Given the description of an element on the screen output the (x, y) to click on. 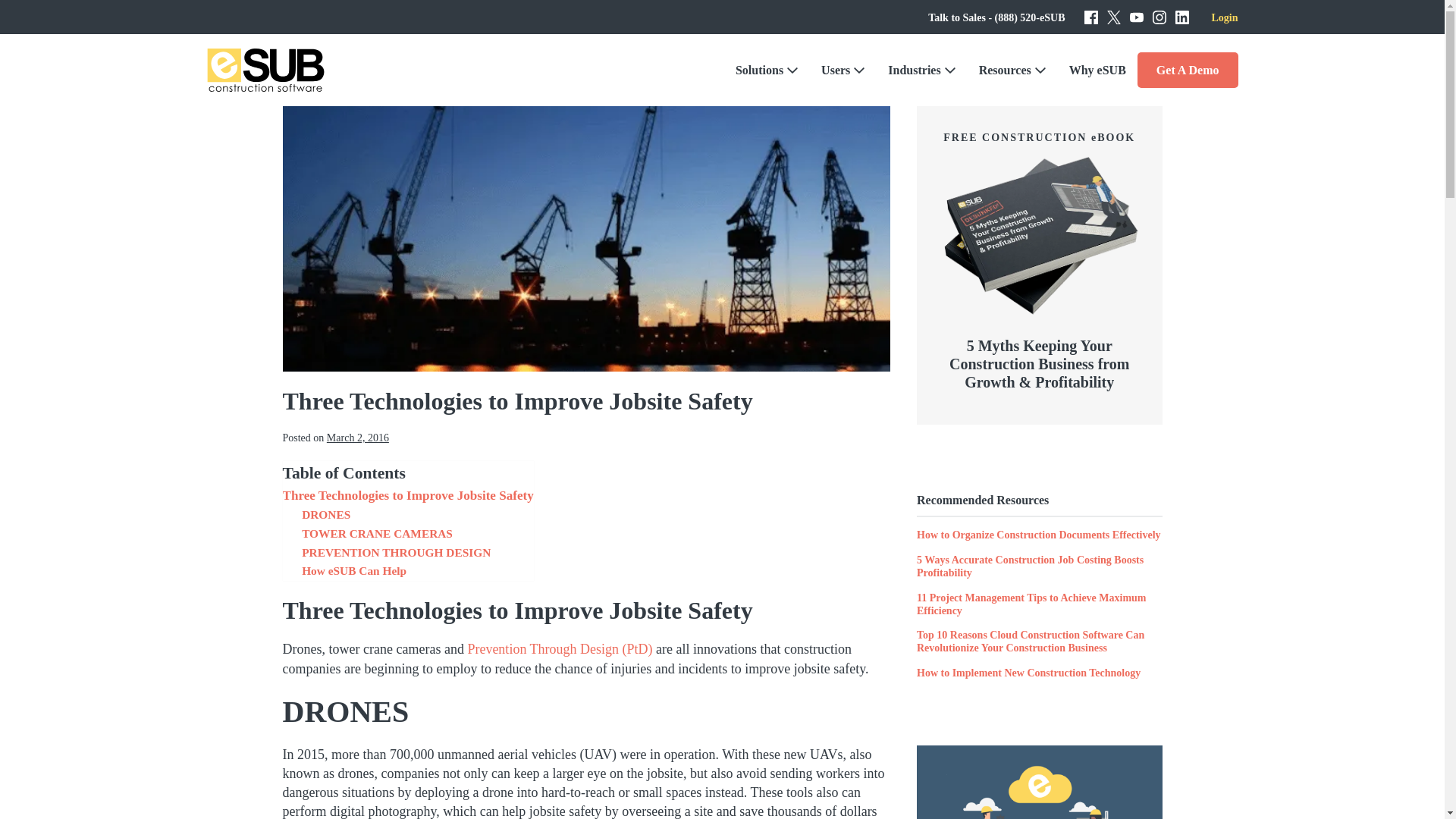
Industries (921, 68)
TOWER CRANE CAMERAS (376, 533)
Login (1224, 17)
How eSUB Can Help (353, 570)
Three Technologies to Improve Jobsite Safety (407, 495)
PREVENTION THROUGH DESIGN (395, 552)
Solutions (766, 68)
Users (842, 68)
DRONES (325, 515)
Resources (1013, 68)
